Given the description of an element on the screen output the (x, y) to click on. 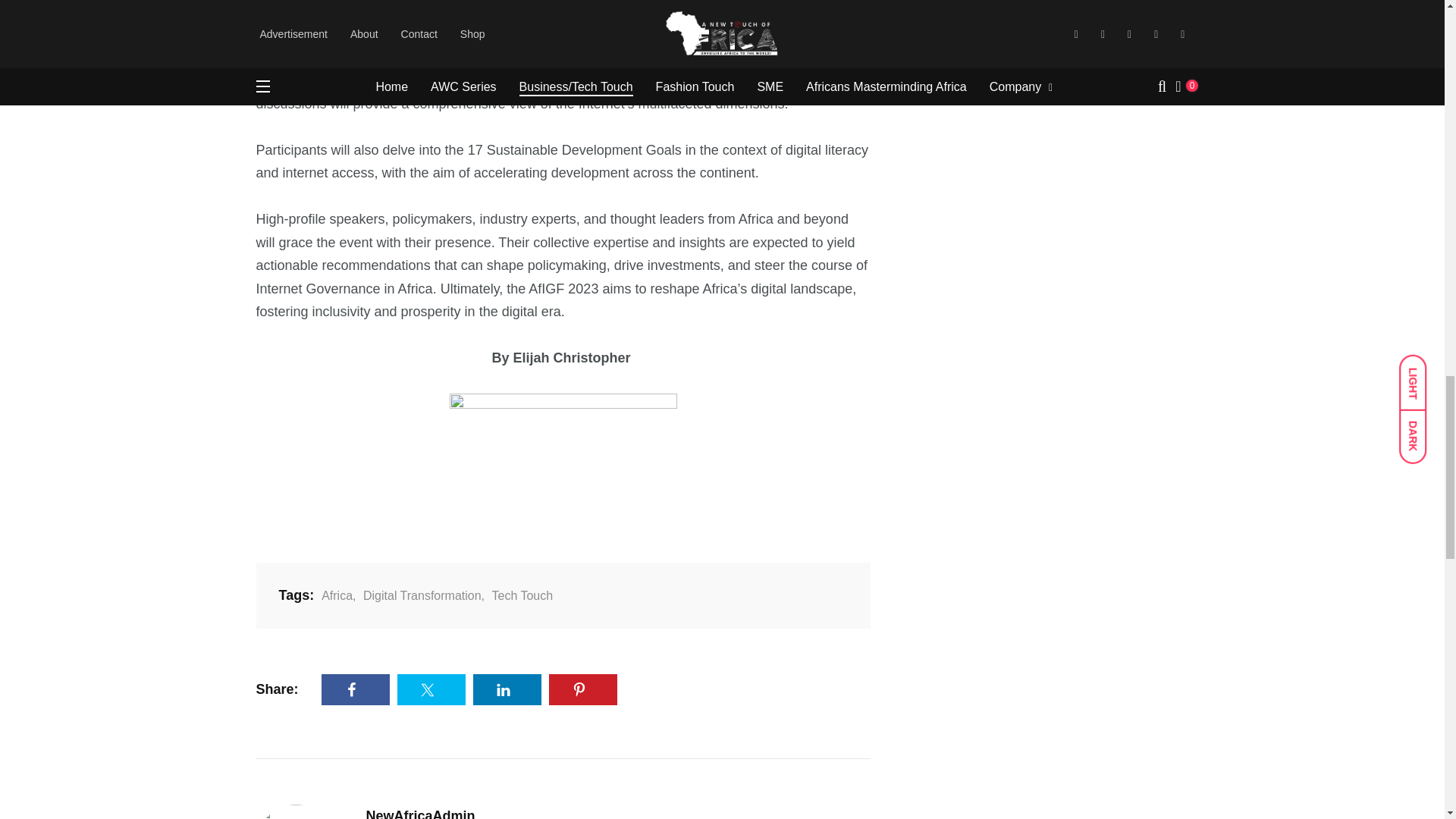
Share on Facebook (355, 689)
Share on LinkedIn (507, 689)
Share on Twitter (431, 689)
Share on Pinterest (582, 689)
